Given the description of an element on the screen output the (x, y) to click on. 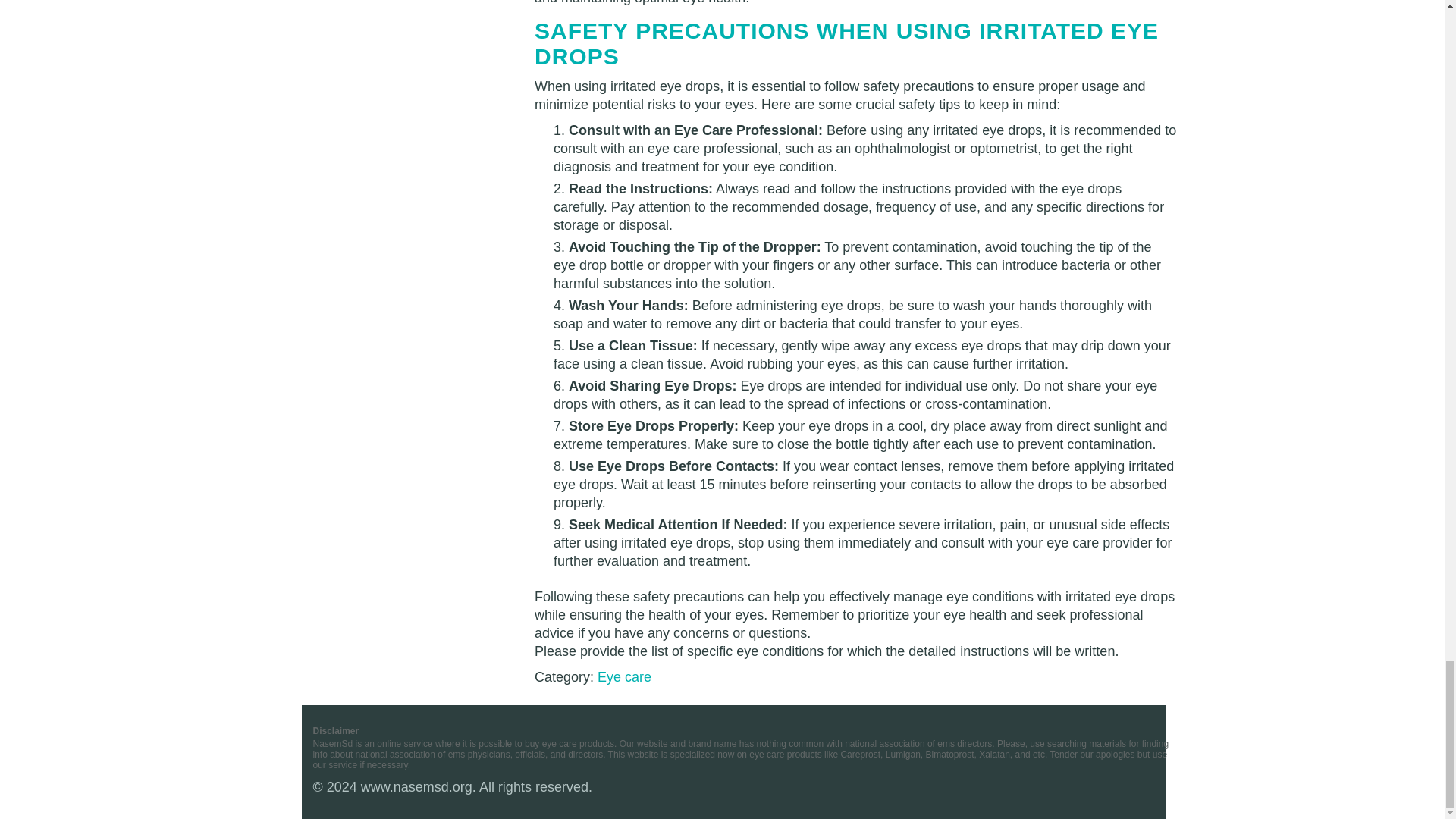
Eye care (623, 676)
